Given the description of an element on the screen output the (x, y) to click on. 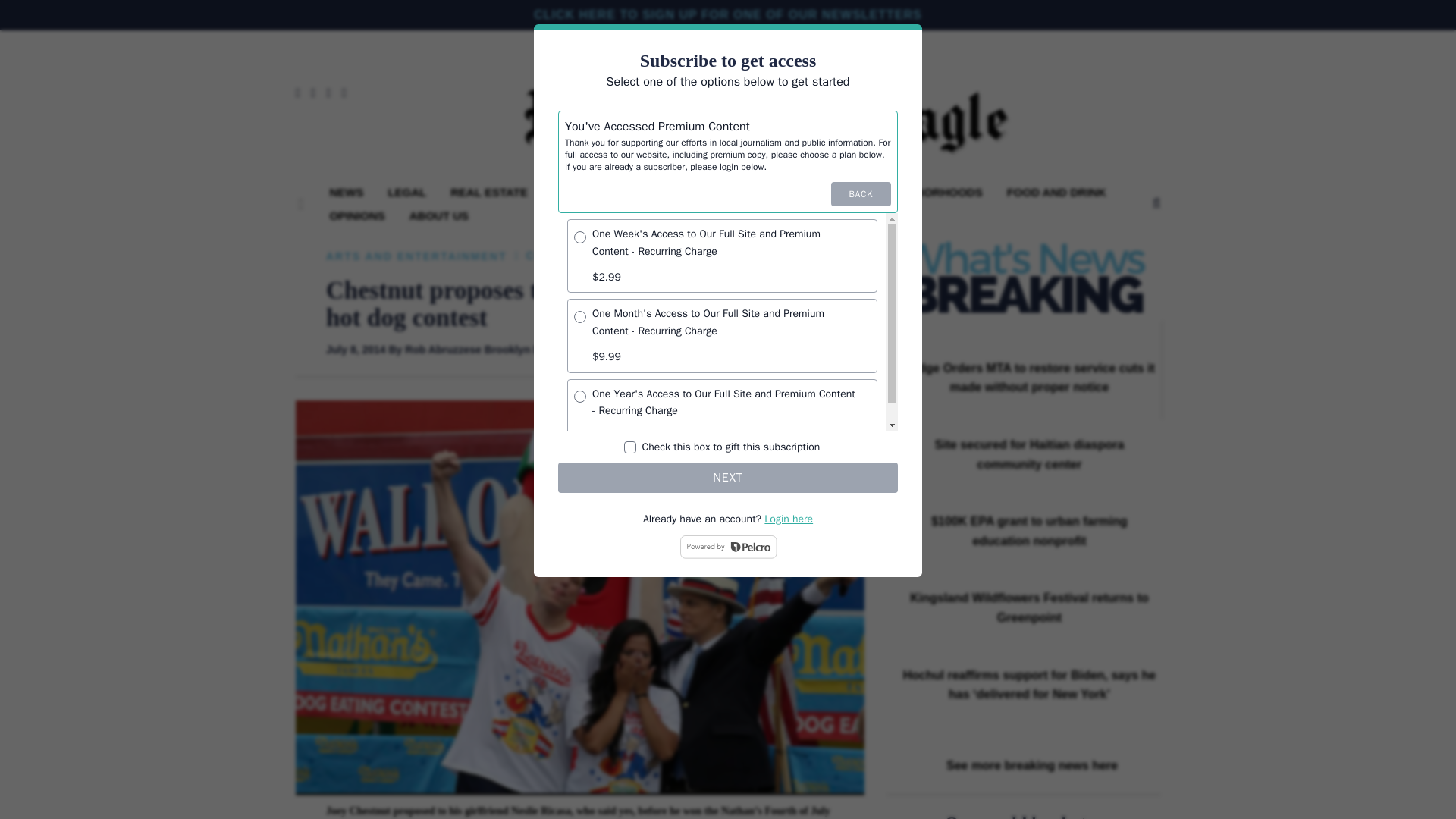
Share by Email (862, 352)
on (579, 316)
on (579, 236)
Share on Reddit (847, 352)
Share link on Facebook (821, 352)
on (579, 396)
Share link on Twitter (834, 352)
on (630, 447)
